Given the description of an element on the screen output the (x, y) to click on. 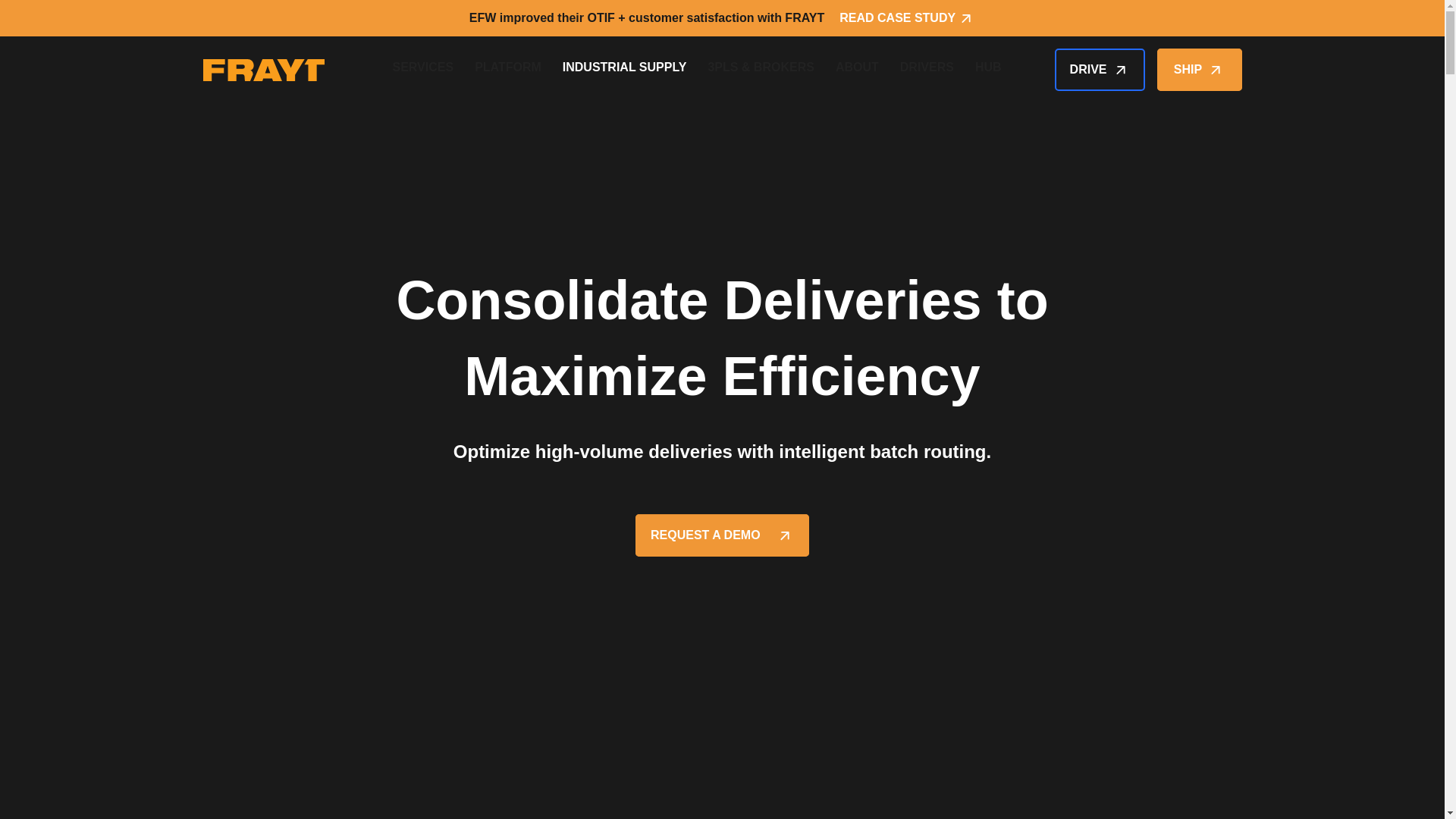
SHIP (1199, 69)
INDUSTRIAL SUPPLY (624, 69)
REQUEST A DEMO (721, 535)
DRIVE (1099, 69)
